Given the description of an element on the screen output the (x, y) to click on. 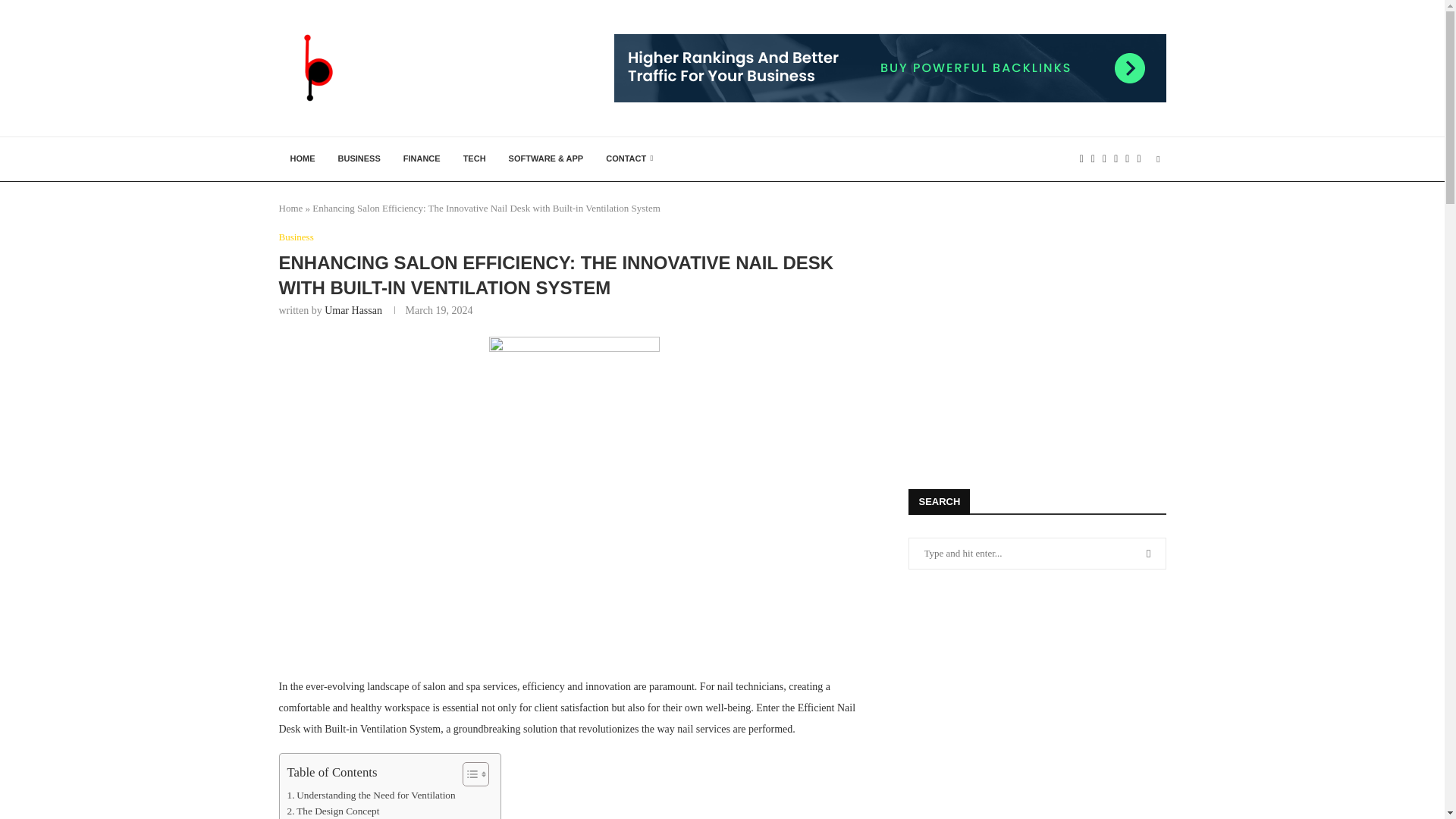
FINANCE (421, 158)
HOME (302, 158)
Business (296, 236)
Home (290, 207)
Umar Hassan (352, 310)
Advertisement (574, 600)
The Design Concept (332, 811)
TECH (474, 158)
The Design Concept (332, 811)
BUSINESS (358, 158)
